Given the description of an element on the screen output the (x, y) to click on. 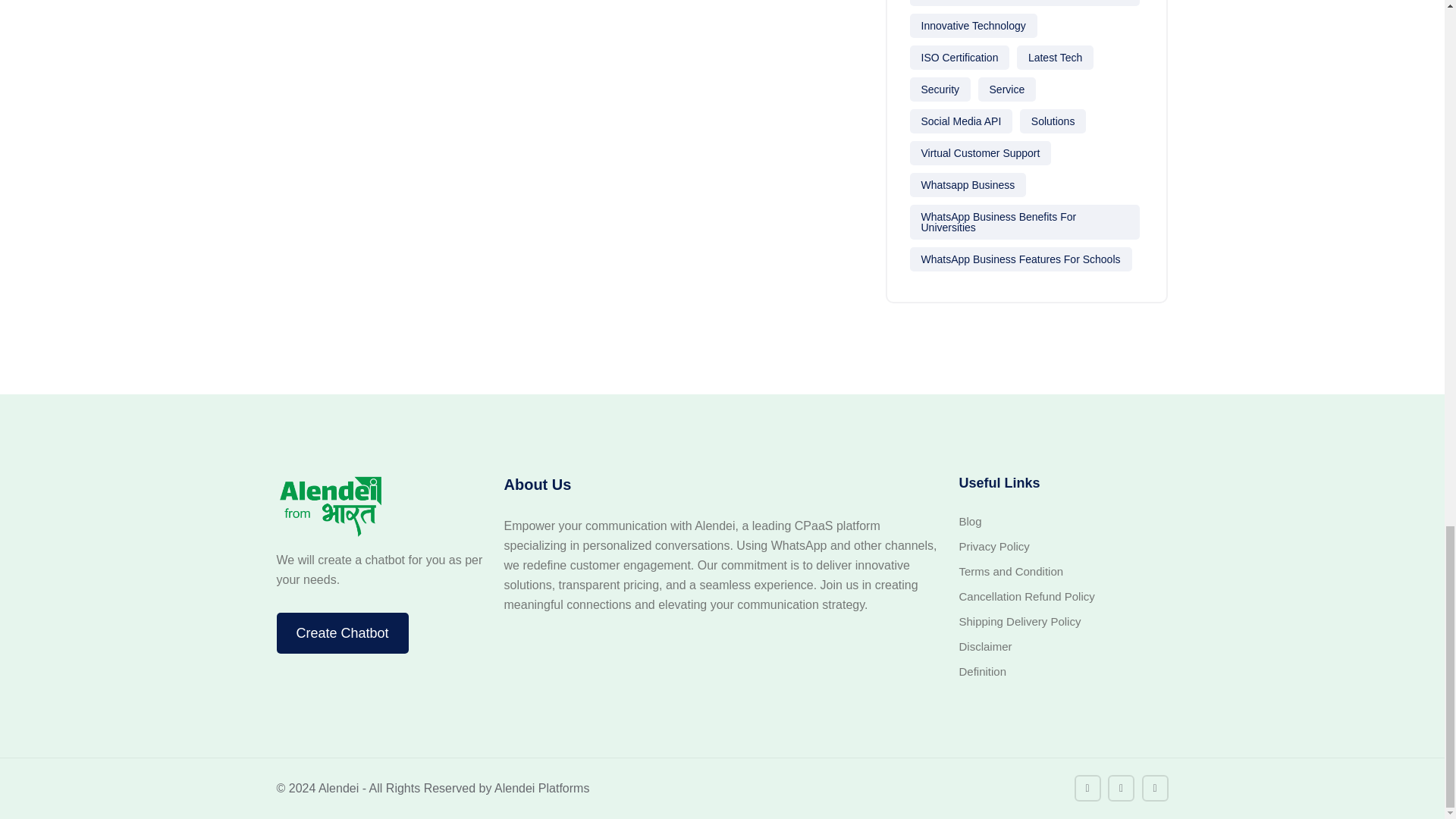
Innovative Technology (973, 25)
Innovative Communication Tools For Educators (1025, 2)
